Given the description of an element on the screen output the (x, y) to click on. 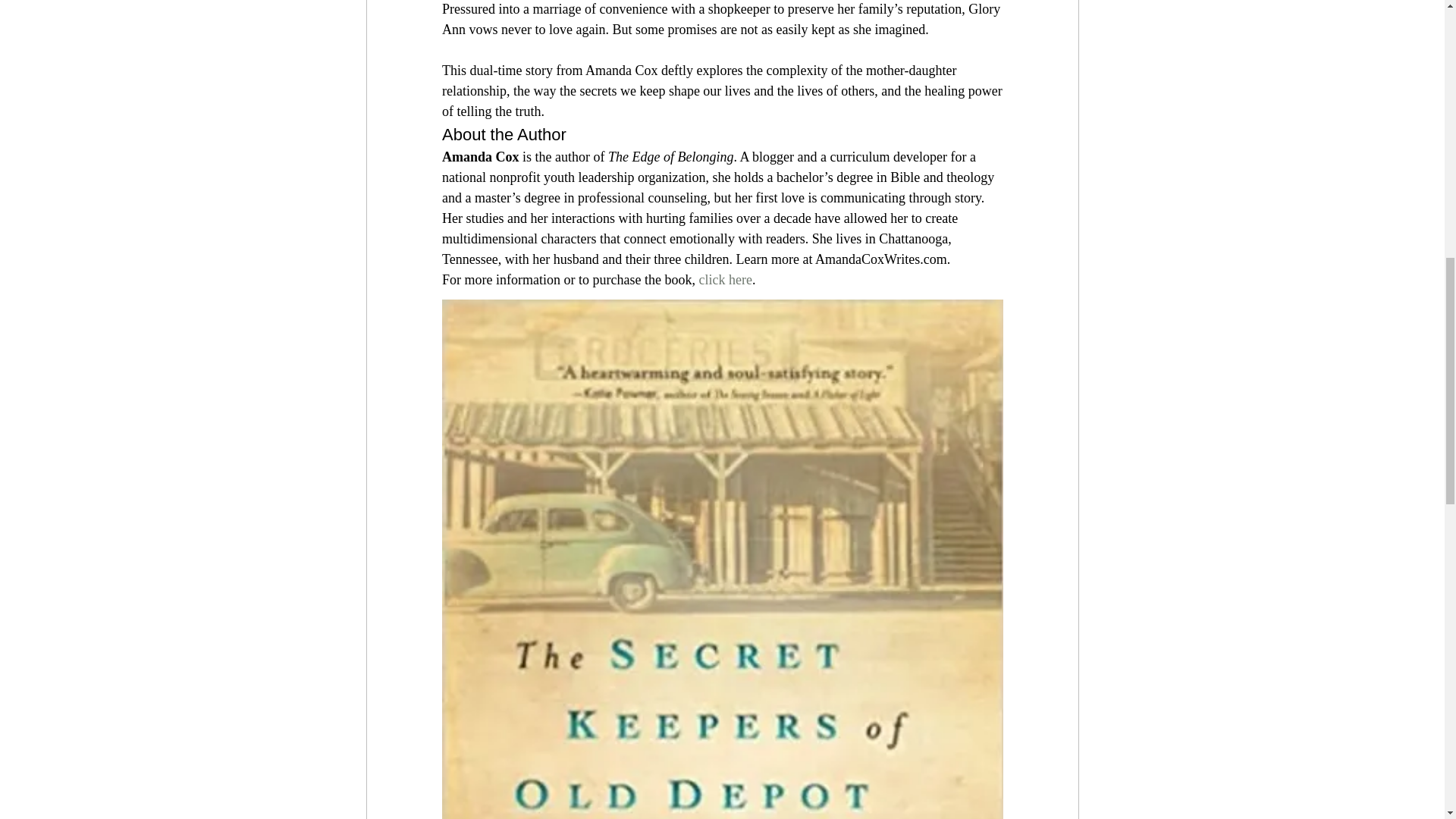
click here (724, 279)
